Given the description of an element on the screen output the (x, y) to click on. 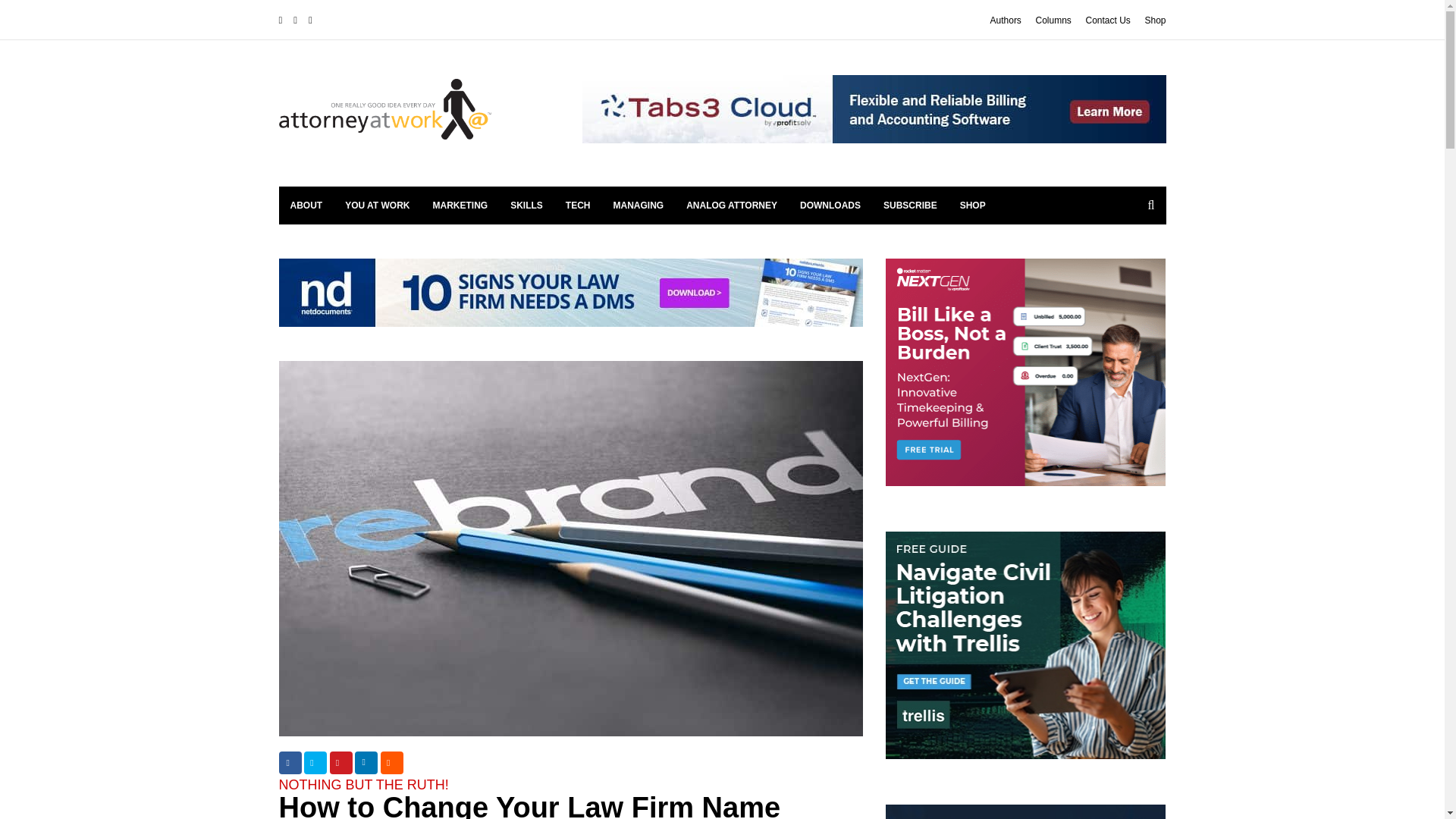
Authors (1006, 20)
SKILLS (526, 205)
You At Work (376, 205)
MANAGING (638, 205)
Shop (1155, 20)
Columns (1053, 20)
MARKETING (460, 205)
YOU AT WORK (376, 205)
Contact Us (1106, 20)
About (306, 205)
TECH (578, 205)
ABOUT (306, 205)
Marketing (460, 205)
